Given the description of an element on the screen output the (x, y) to click on. 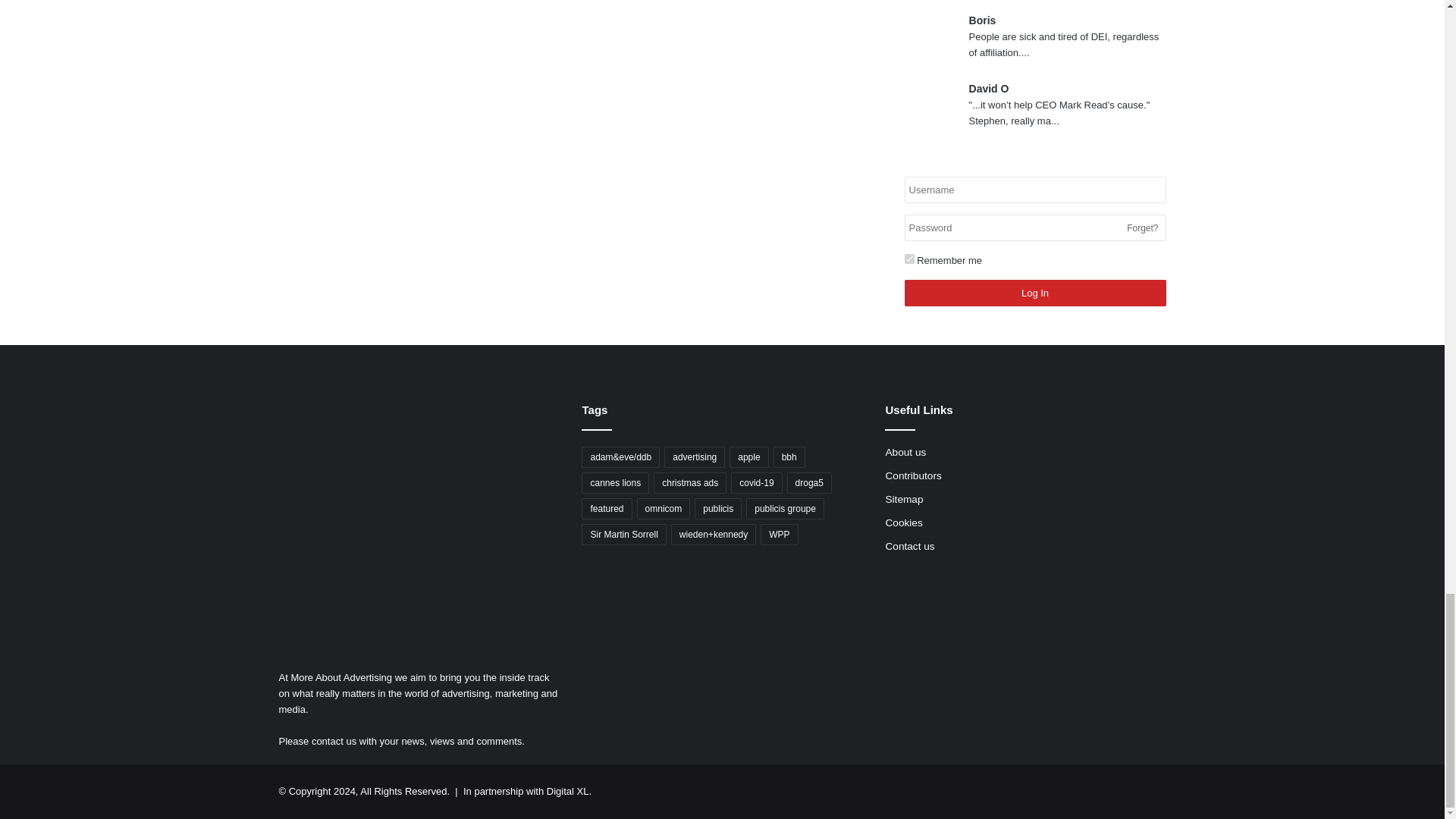
forever (909, 258)
Password (1035, 227)
Username (1035, 189)
